Given the description of an element on the screen output the (x, y) to click on. 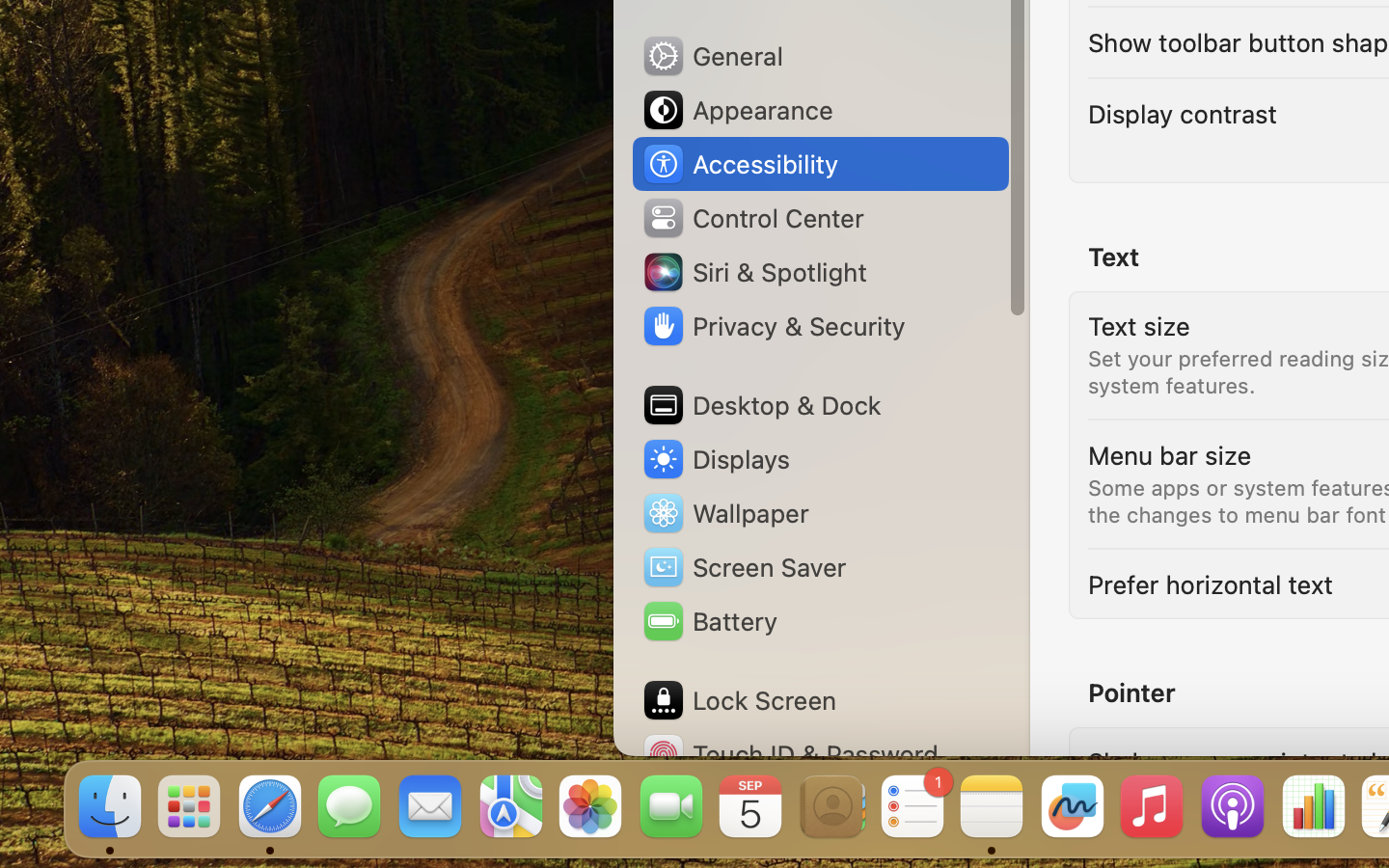
Desktop & Dock Element type: AXStaticText (760, 404)
